Given the description of an element on the screen output the (x, y) to click on. 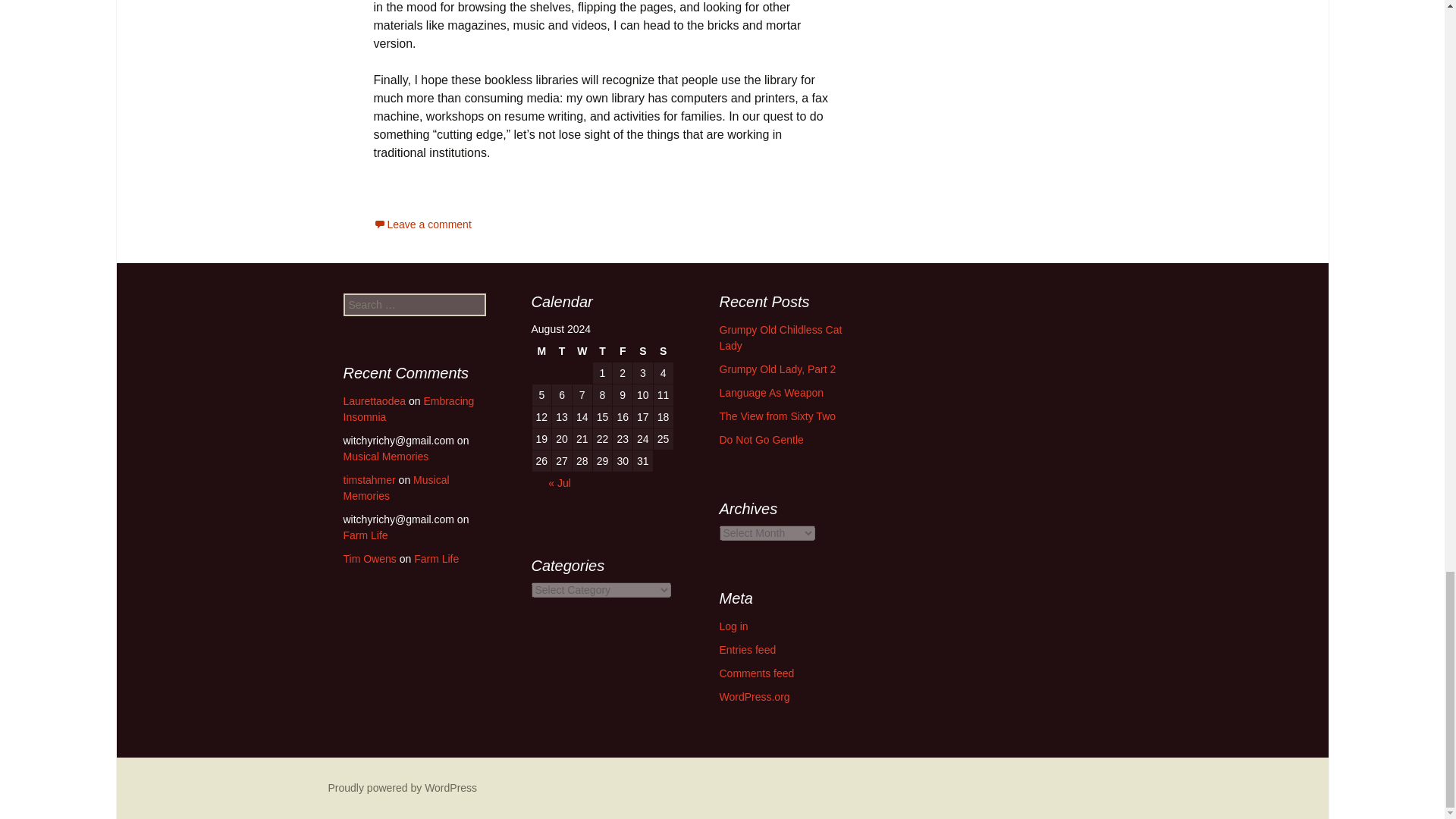
Grumpy Old Lady, Part 2 (777, 369)
Monday (541, 350)
Sunday (662, 350)
Grumpy Old Childless Cat Lady (780, 337)
Friday (621, 350)
Leave a comment (421, 224)
Thursday (602, 350)
Wednesday (582, 350)
Saturday (642, 350)
Language As Weapon (771, 392)
